Given the description of an element on the screen output the (x, y) to click on. 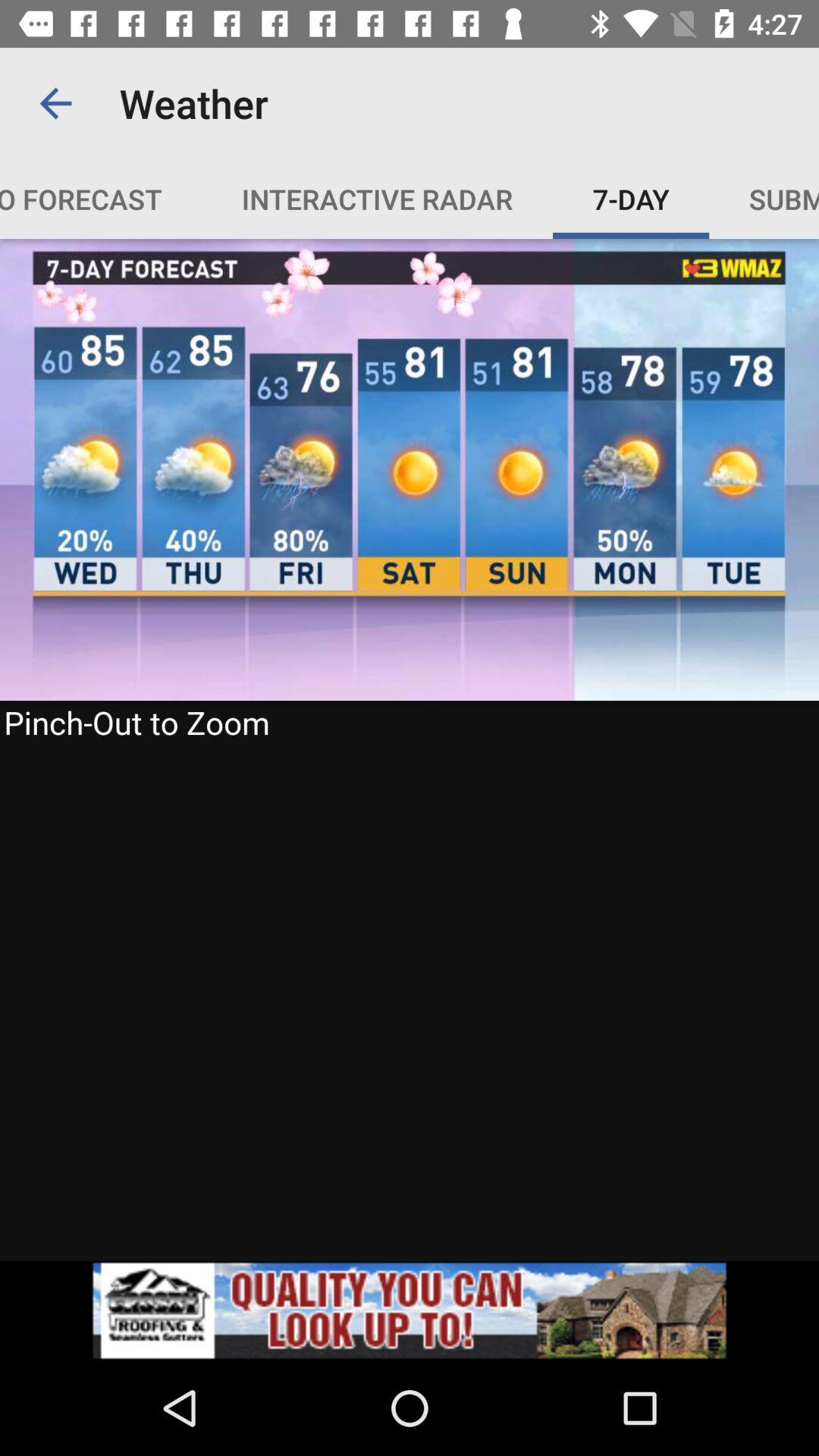
go to weather (409, 749)
